Given the description of an element on the screen output the (x, y) to click on. 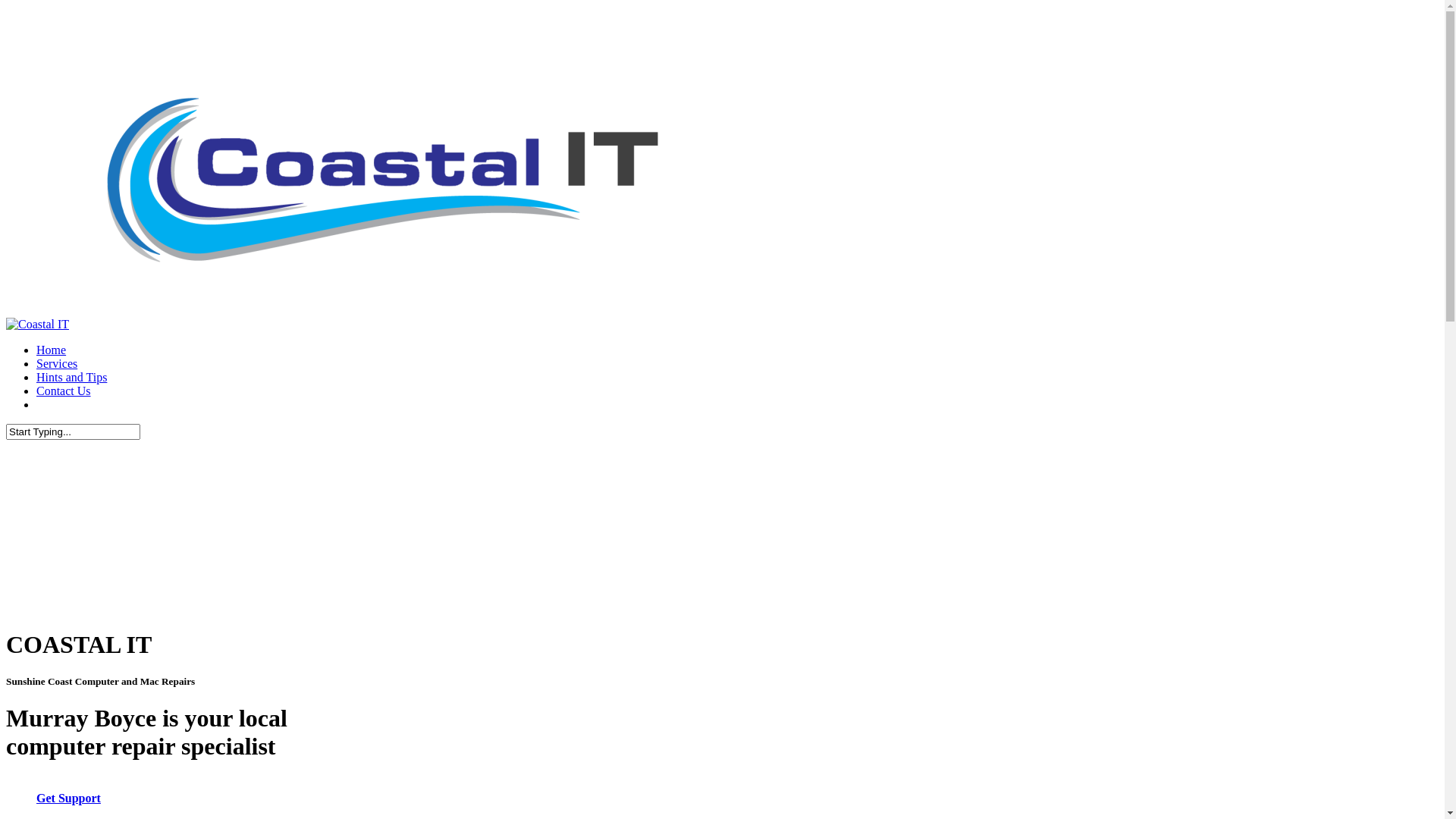
Home Element type: text (50, 349)
Services Element type: text (56, 363)
Hints and Tips Element type: text (71, 376)
Contact Us Element type: text (63, 390)
Get Support Element type: text (76, 797)
